Given the description of an element on the screen output the (x, y) to click on. 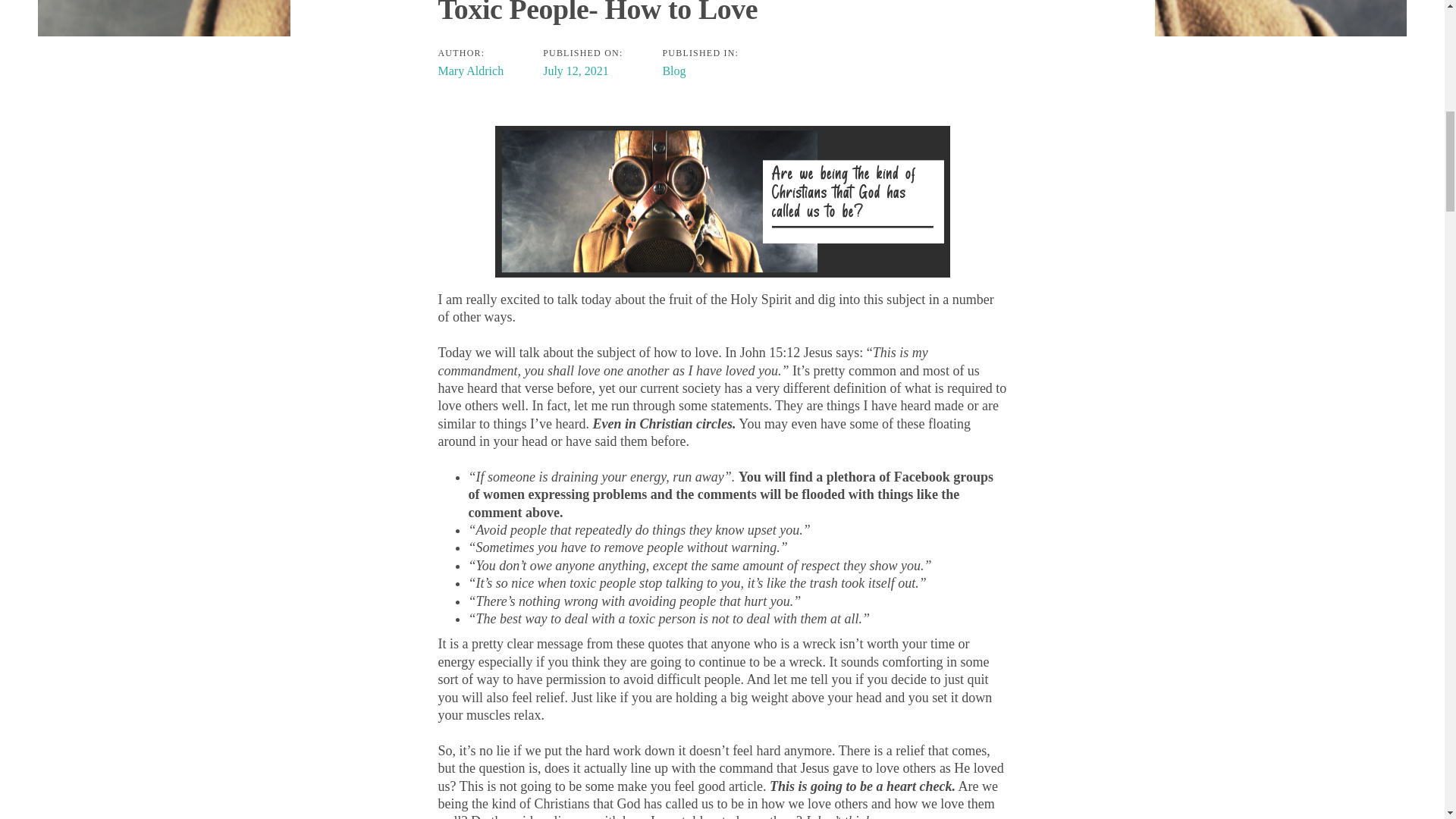
Posts by Mary Aldrich (470, 70)
Mary Aldrich (470, 70)
July 12, 2021 (575, 70)
Blog (673, 70)
